Given the description of an element on the screen output the (x, y) to click on. 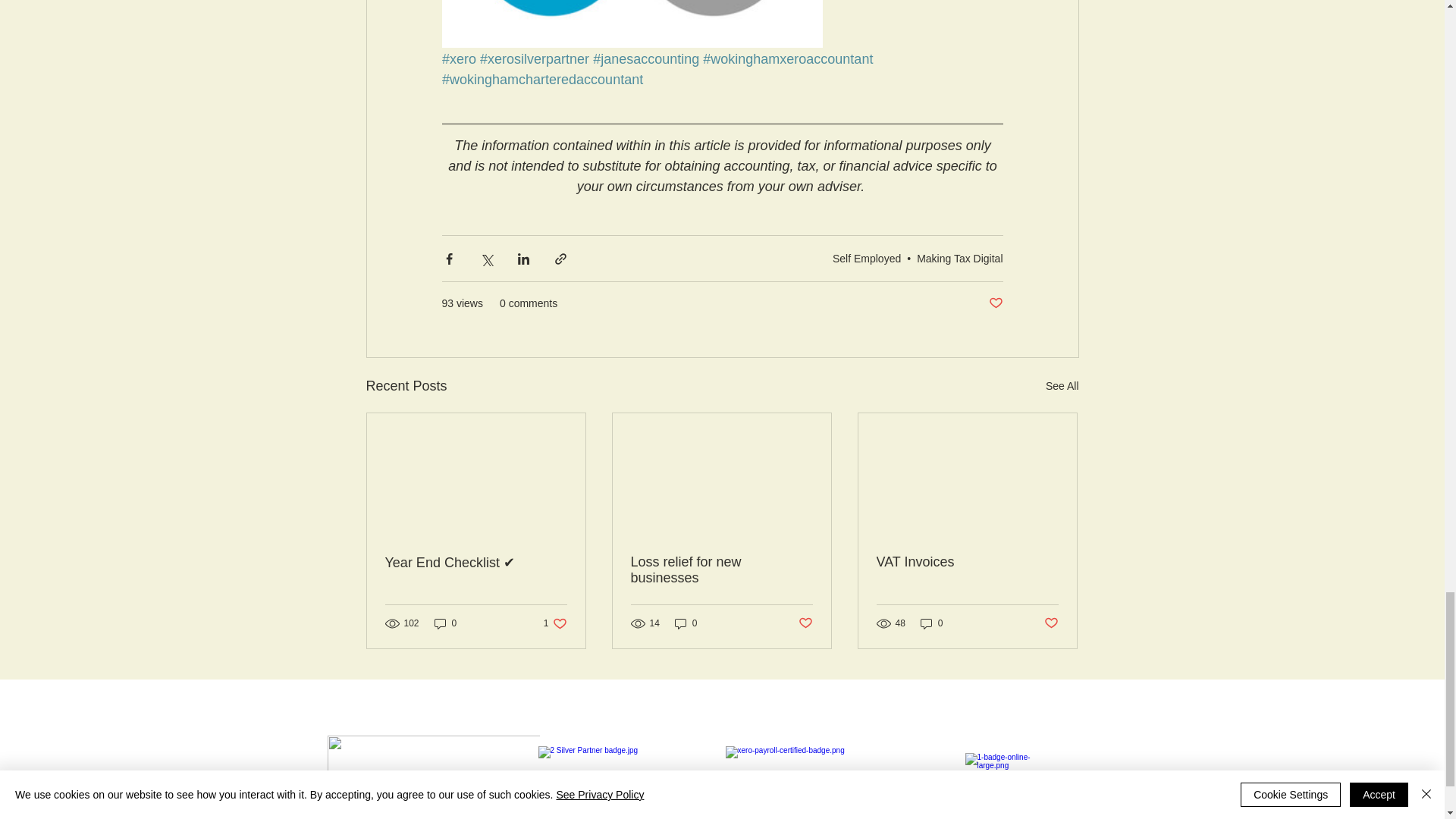
Self Employed (866, 258)
xero bronze partner (813, 782)
See All (1061, 386)
xero bronze partner (627, 782)
Post not marked as liked (995, 303)
Making Tax Digital (960, 258)
